Given the description of an element on the screen output the (x, y) to click on. 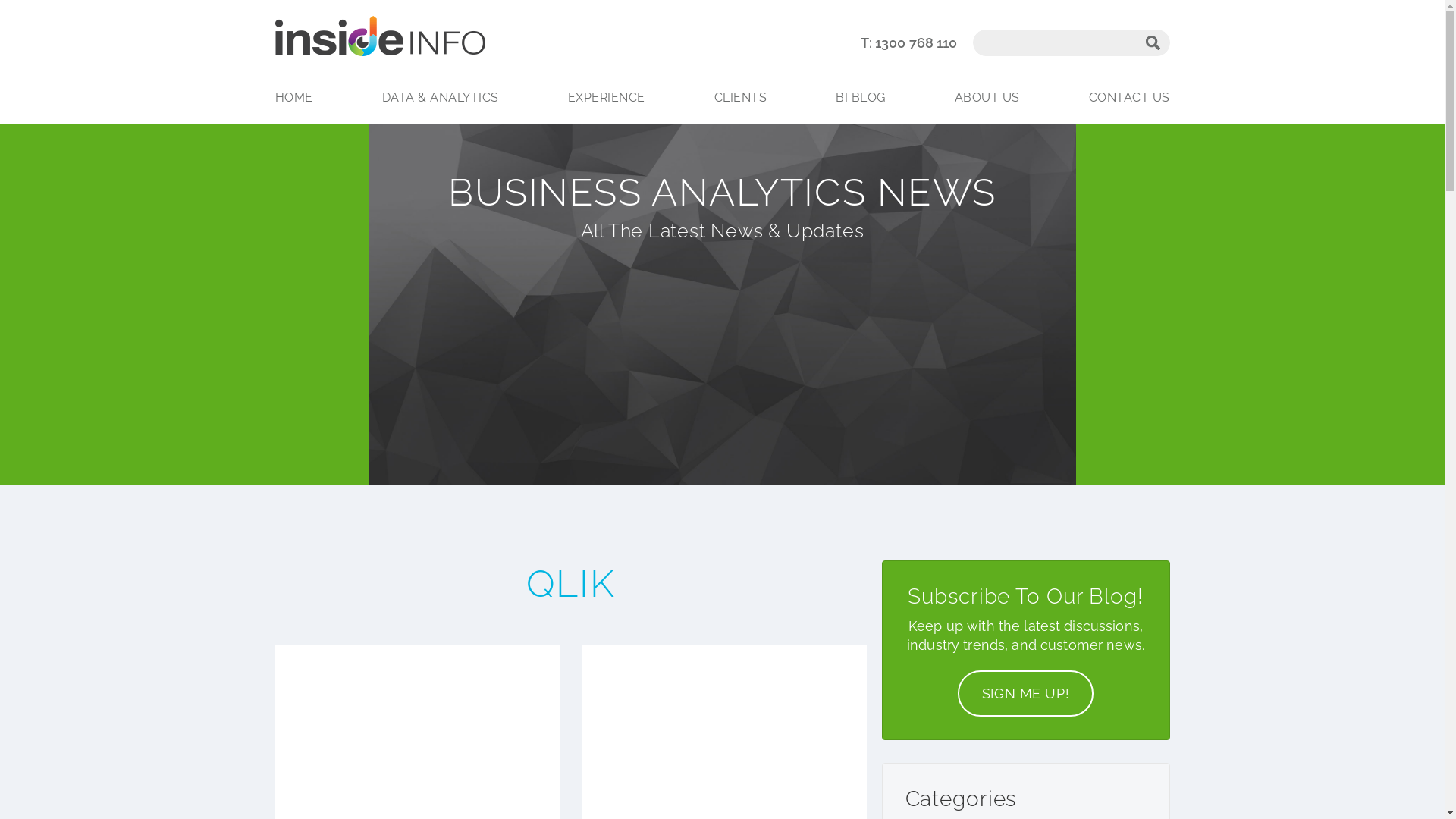
SIGN ME UP! Element type: text (1025, 693)
BI BLOG Element type: text (860, 97)
CONTACT US Element type: text (1126, 97)
HOME Element type: text (295, 97)
ABOUT US Element type: text (986, 97)
DATA & ANALYTICS Element type: text (439, 97)
Skip to main content Element type: text (690, 1)
EXPERIENCE Element type: text (606, 97)
CLIENTS Element type: text (739, 97)
